Given the description of an element on the screen output the (x, y) to click on. 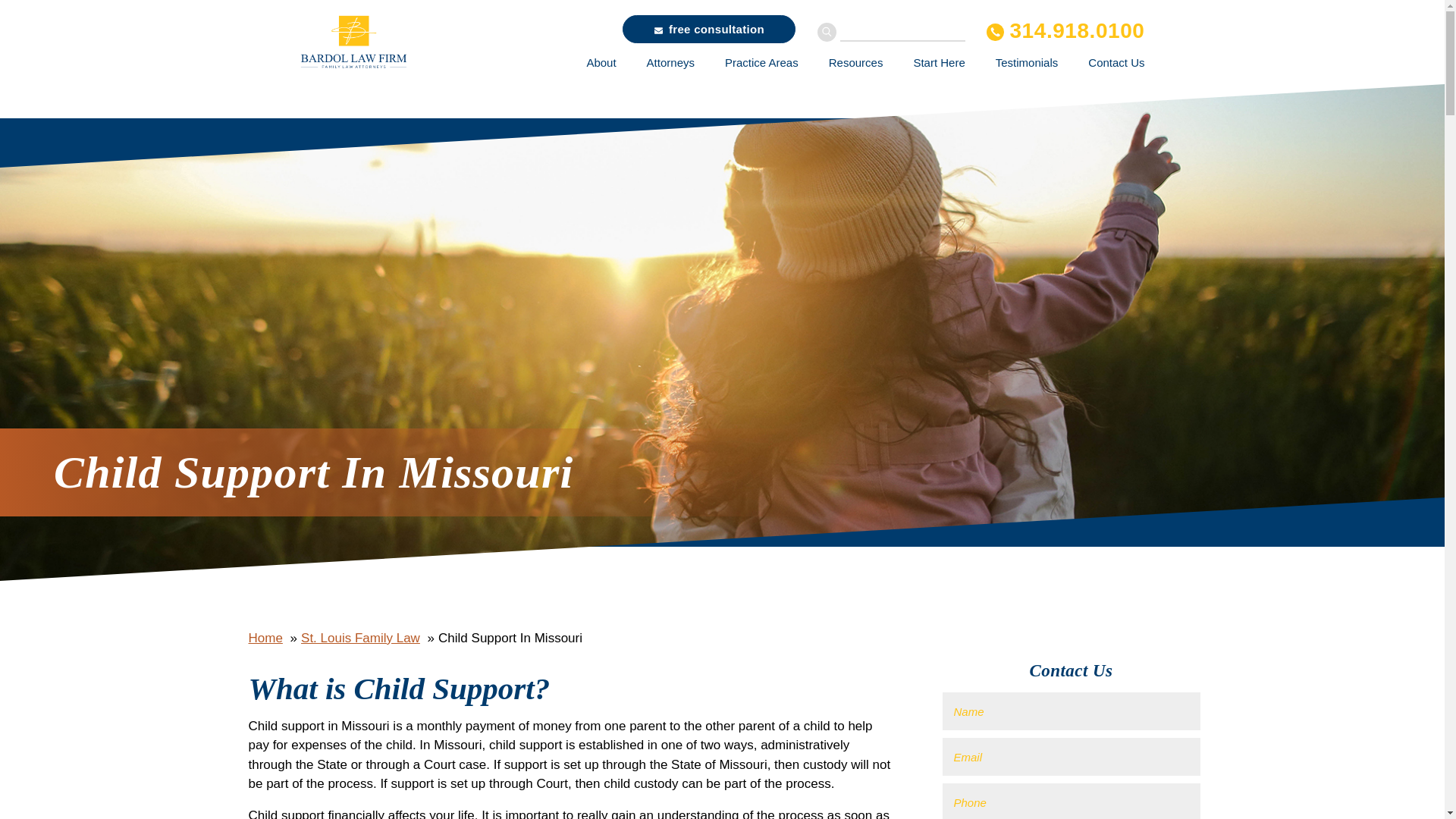
Attorneys (670, 62)
Search (825, 31)
About (600, 62)
Practice Areas (761, 62)
314.918.0100 (1065, 30)
Search (825, 31)
Bardol Law Firm (413, 43)
free consultation (708, 29)
Search (825, 31)
